Given the description of an element on the screen output the (x, y) to click on. 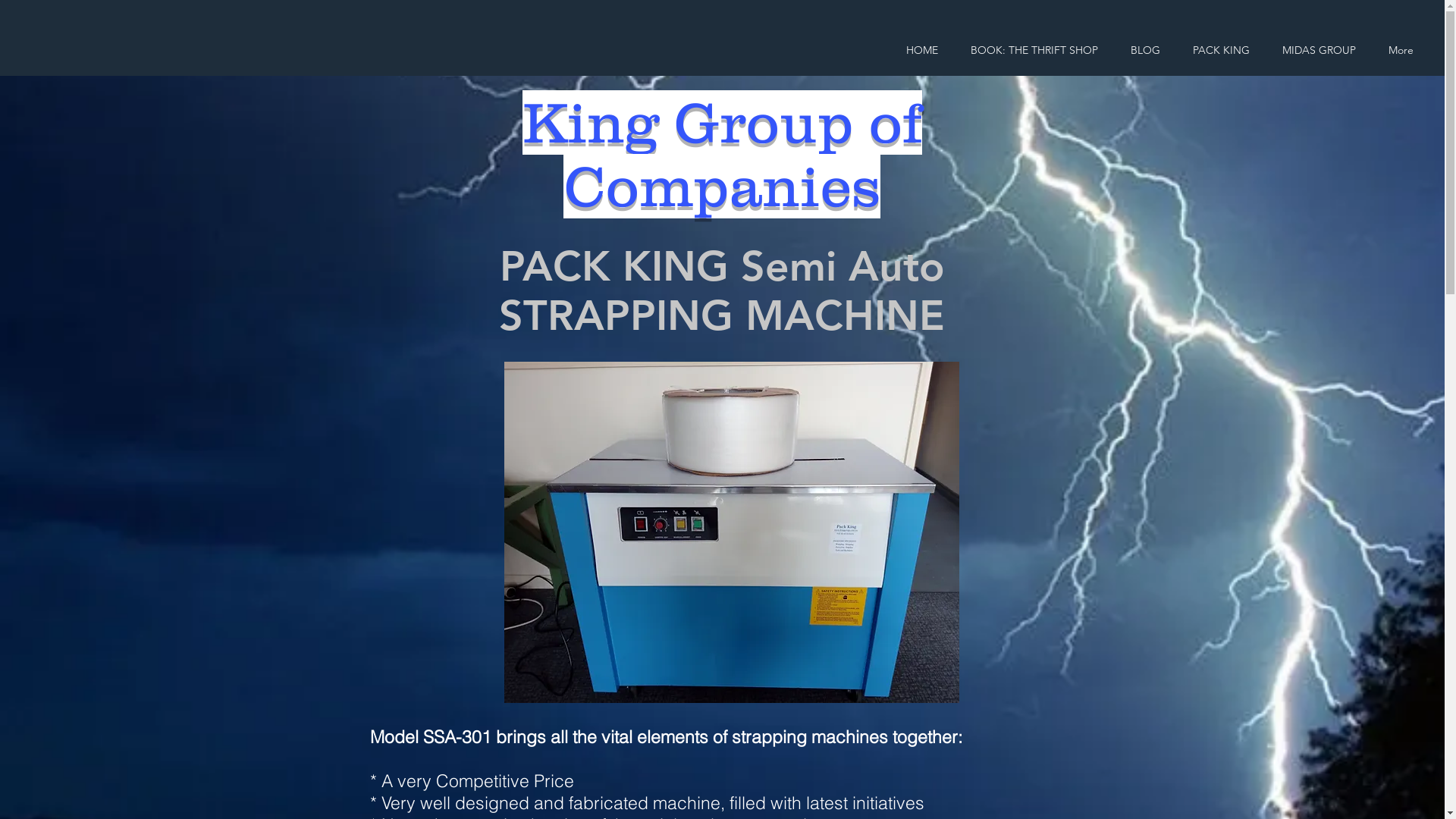
PACK KING Element type: text (1220, 50)
BLOG Element type: text (1144, 50)
HOME Element type: text (921, 50)
BOOK: THE THRIFT SHOP Element type: text (1033, 50)
MIDAS GROUP Element type: text (1318, 50)
